Given the description of an element on the screen output the (x, y) to click on. 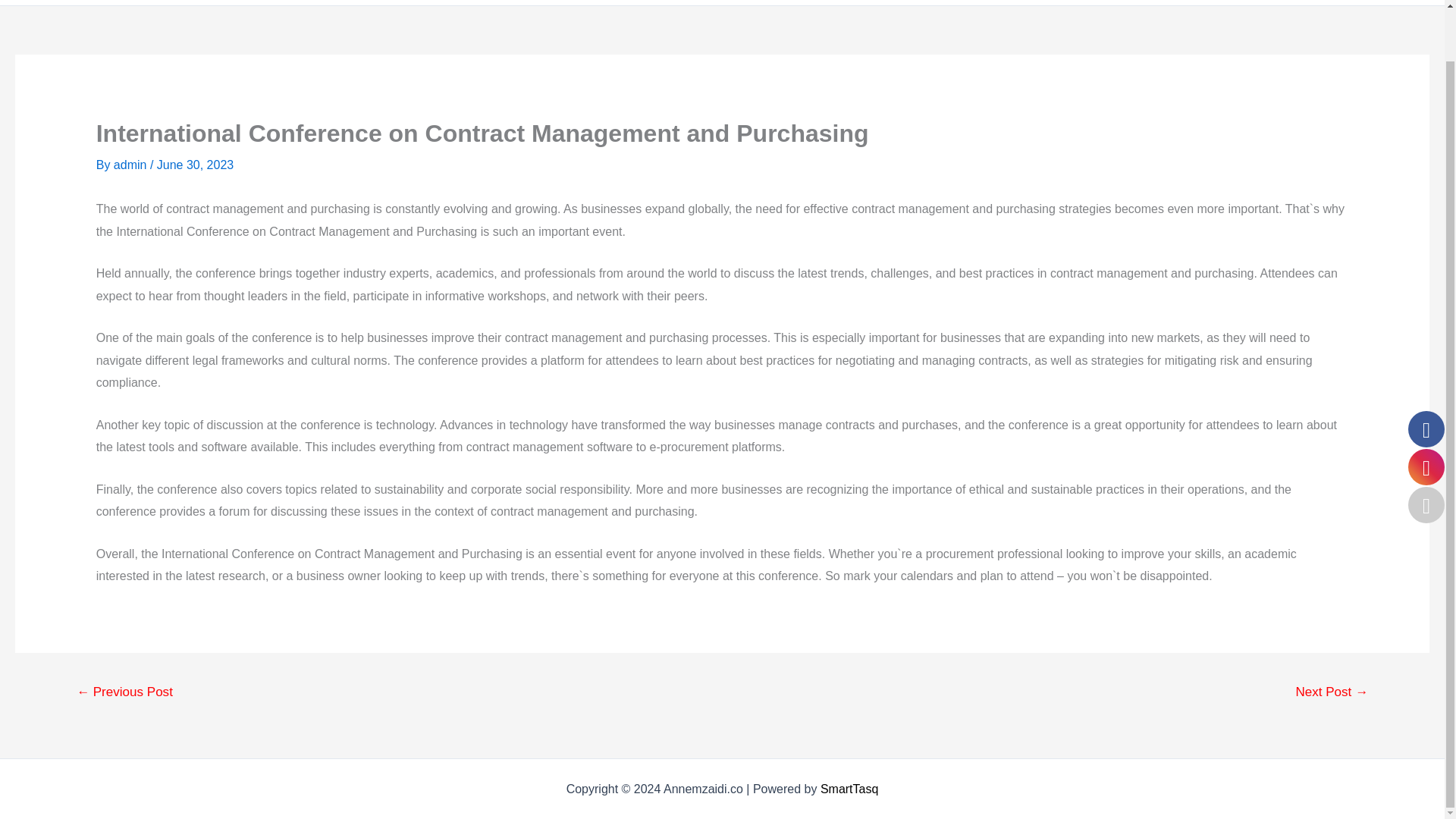
SmartTasq (849, 788)
View all posts by admin (131, 164)
admin (131, 164)
